Given the description of an element on the screen output the (x, y) to click on. 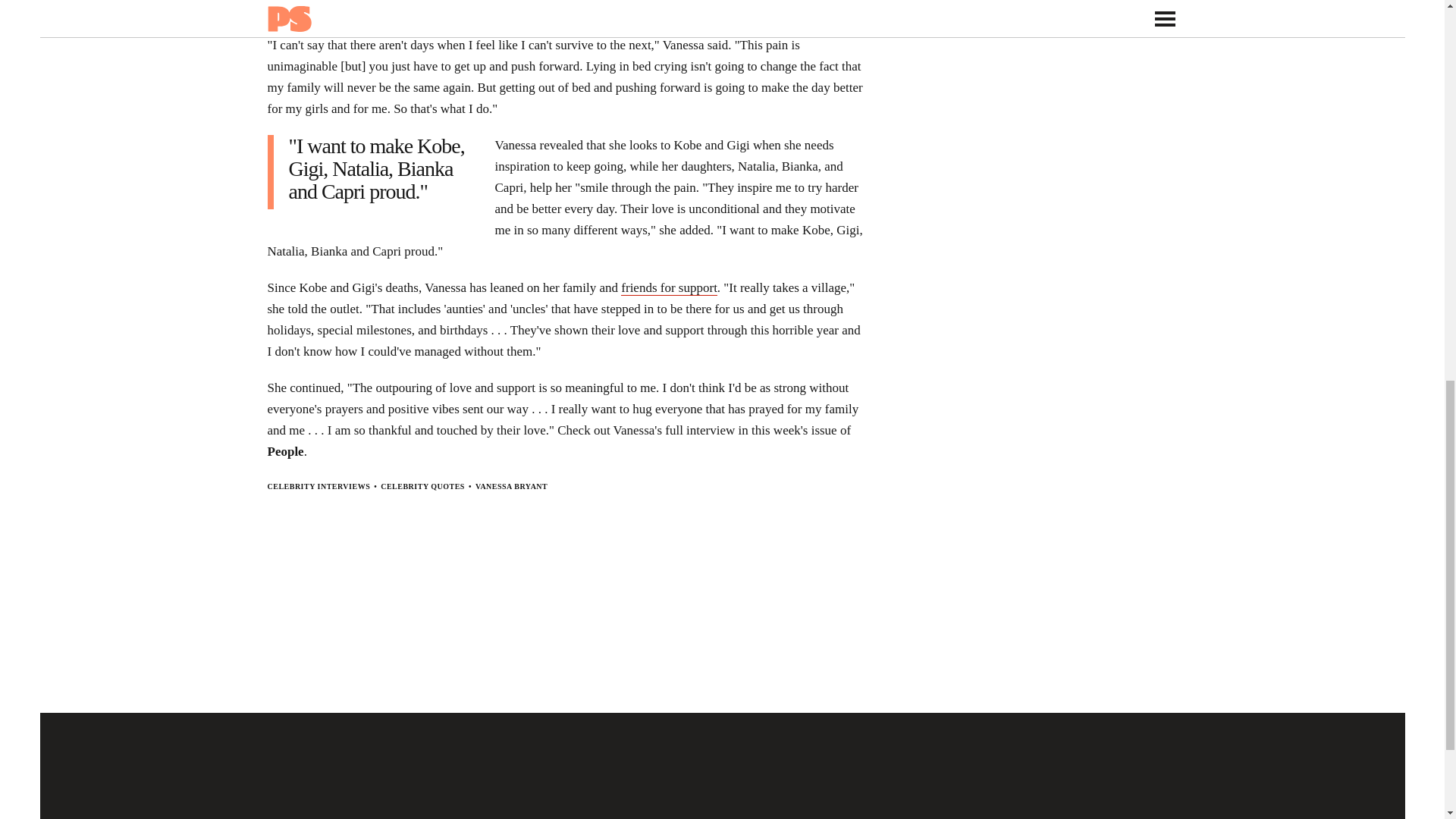
friends for support (669, 287)
VANESSA BRYANT (511, 486)
there are days when she doesn't feel strong (731, 8)
CELEBRITY INTERVIEWS (317, 486)
CELEBRITY QUOTES (422, 486)
